Given the description of an element on the screen output the (x, y) to click on. 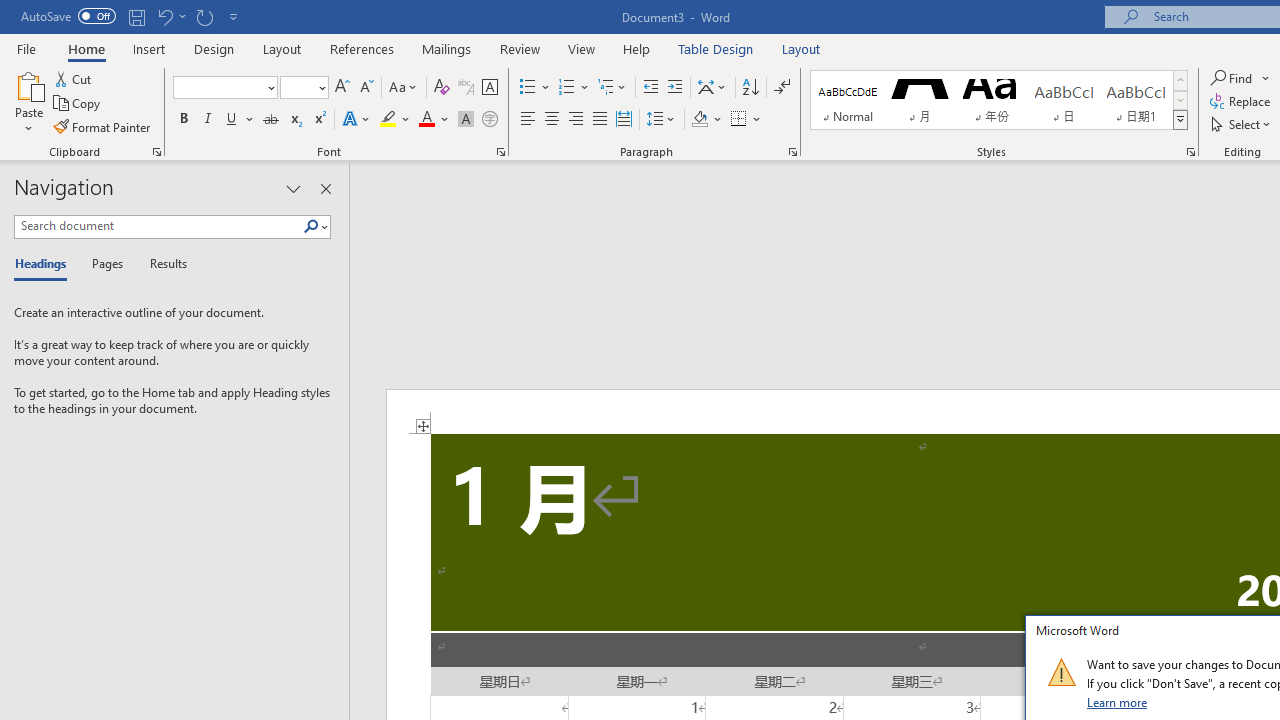
Strikethrough (270, 119)
Multilevel List (613, 87)
Bold (183, 119)
Distributed (623, 119)
Learn more (1118, 702)
Undo Distribute Para (164, 15)
Select (1242, 124)
